Given the description of an element on the screen output the (x, y) to click on. 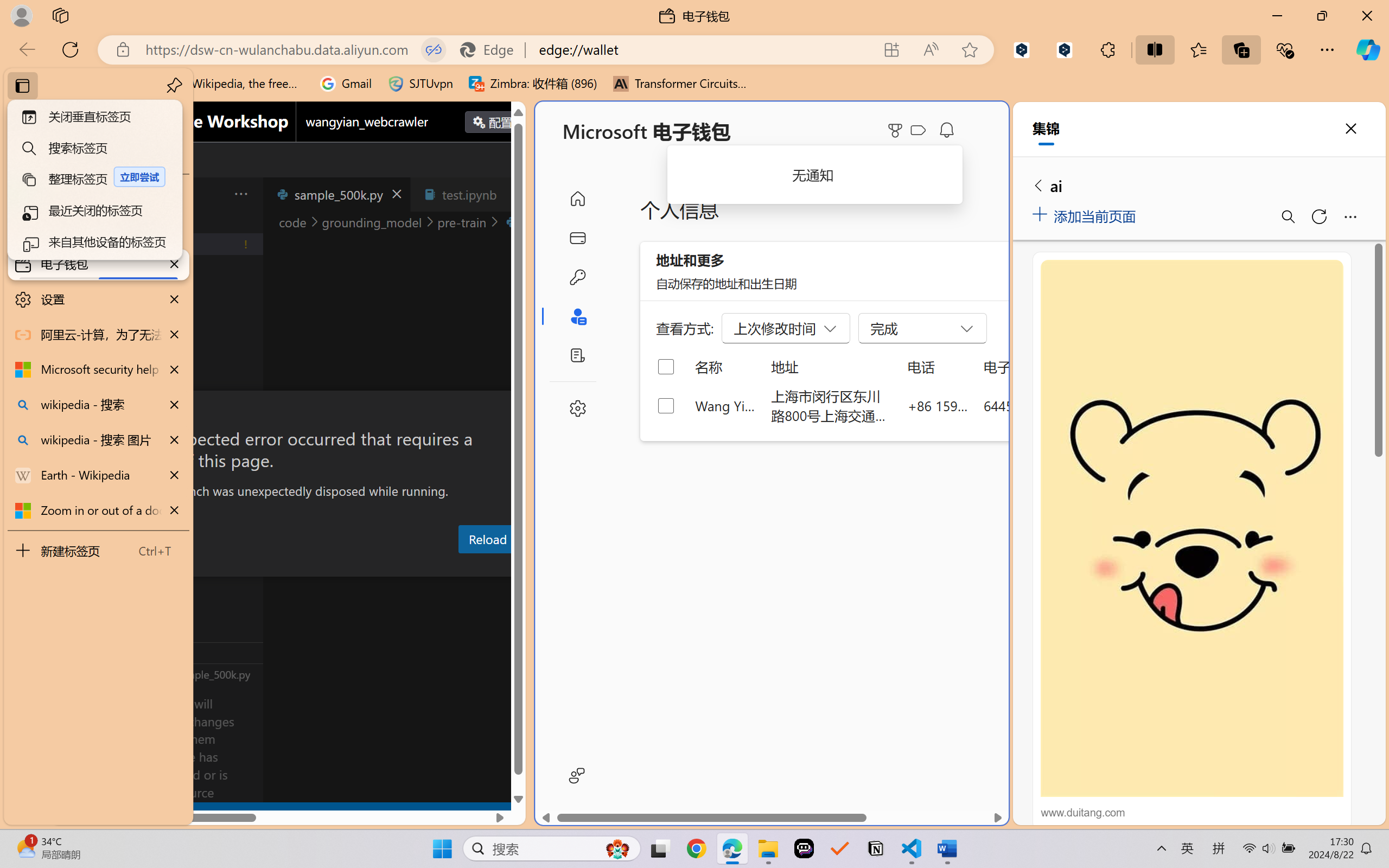
Debug Console (Ctrl+Shift+Y) (463, 565)
No Problems (115, 812)
Gmail (345, 83)
Accounts - Sign in requested (73, 732)
